Given the description of an element on the screen output the (x, y) to click on. 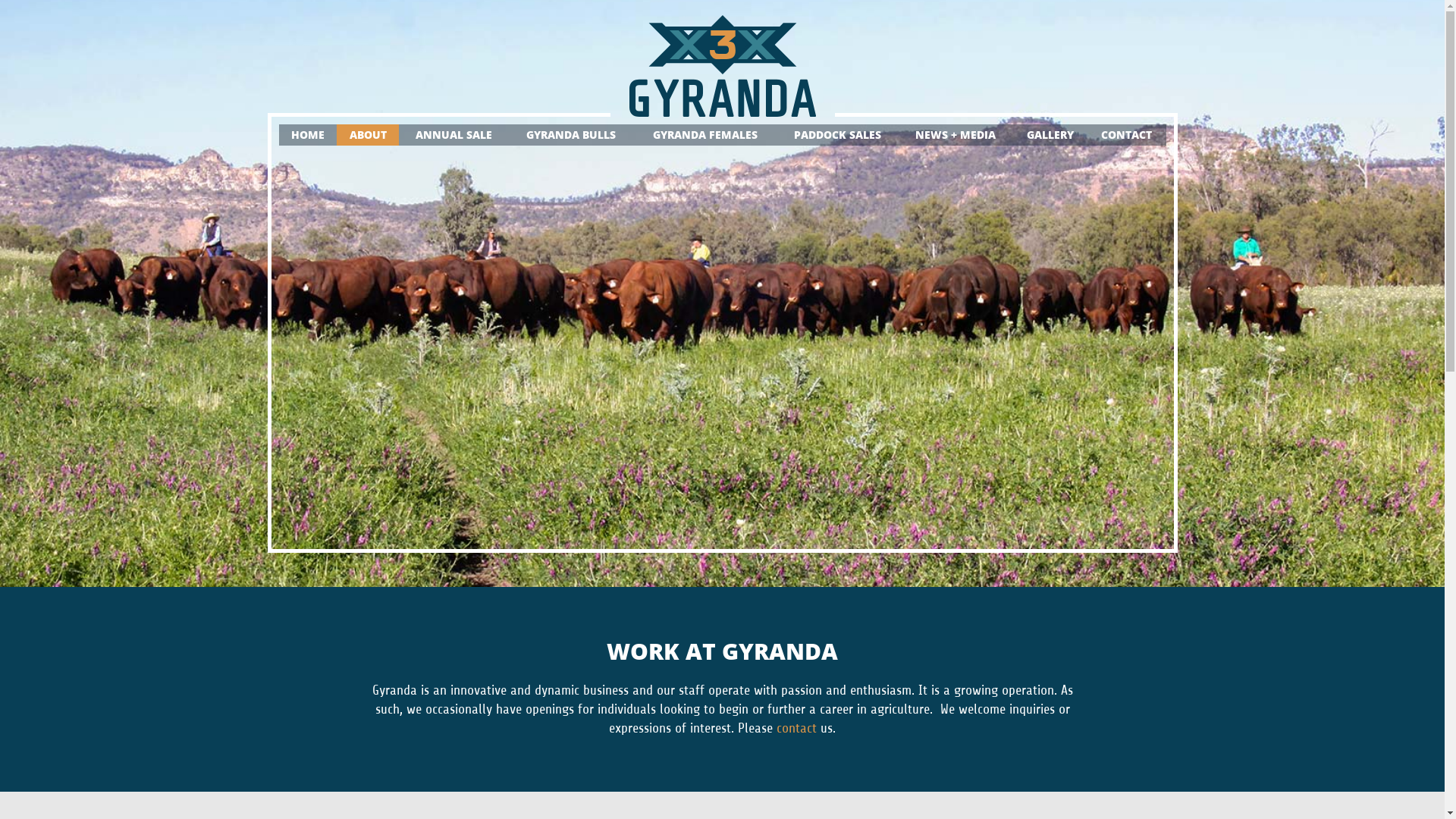
contact Element type: text (796, 727)
NEWS + MEDIA Element type: text (955, 134)
GYRANDA BULLS Element type: text (570, 134)
ABOUT Element type: text (367, 134)
ANNUAL SALE Element type: text (453, 134)
HOME Element type: text (307, 134)
PADDOCK SALES Element type: text (837, 134)
GYRANDA FEMALES Element type: text (704, 134)
CONTACT Element type: text (1126, 134)
GALLERY Element type: text (1050, 134)
